Given the description of an element on the screen output the (x, y) to click on. 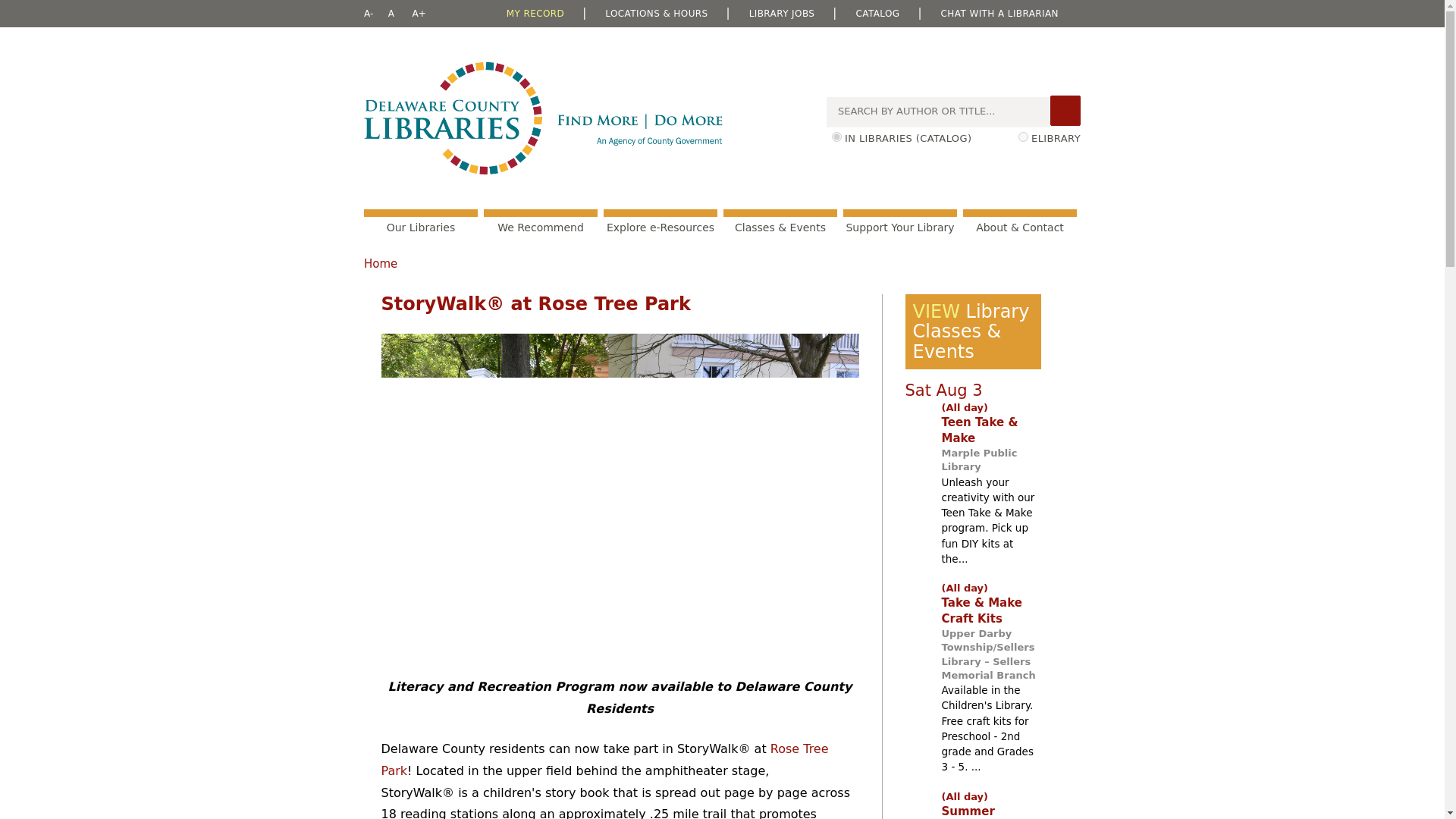
Catalog Search (1064, 110)
Home (543, 117)
In Libraries (836, 136)
Catalog Search (1064, 110)
In Digital Library (1022, 136)
